Given the description of an element on the screen output the (x, y) to click on. 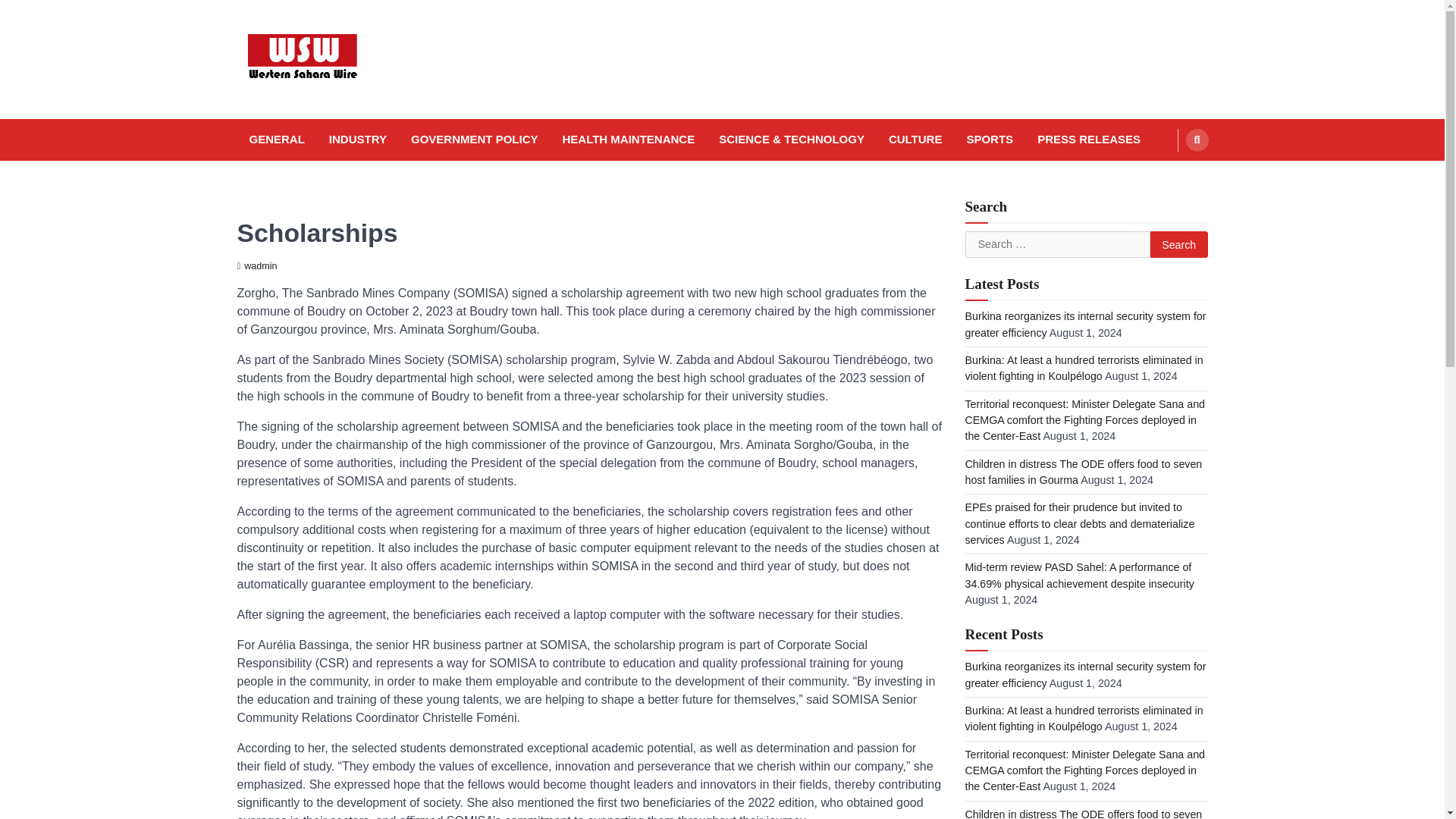
Western Sahara Wire (353, 122)
Search (1197, 139)
Search (1168, 175)
INDUSTRY (358, 139)
SPORTS (989, 139)
GOVERNMENT POLICY (474, 139)
PRESS RELEASES (1088, 139)
GENERAL (276, 139)
HEALTH MAINTENANCE (628, 139)
Search (1179, 244)
